Given the description of an element on the screen output the (x, y) to click on. 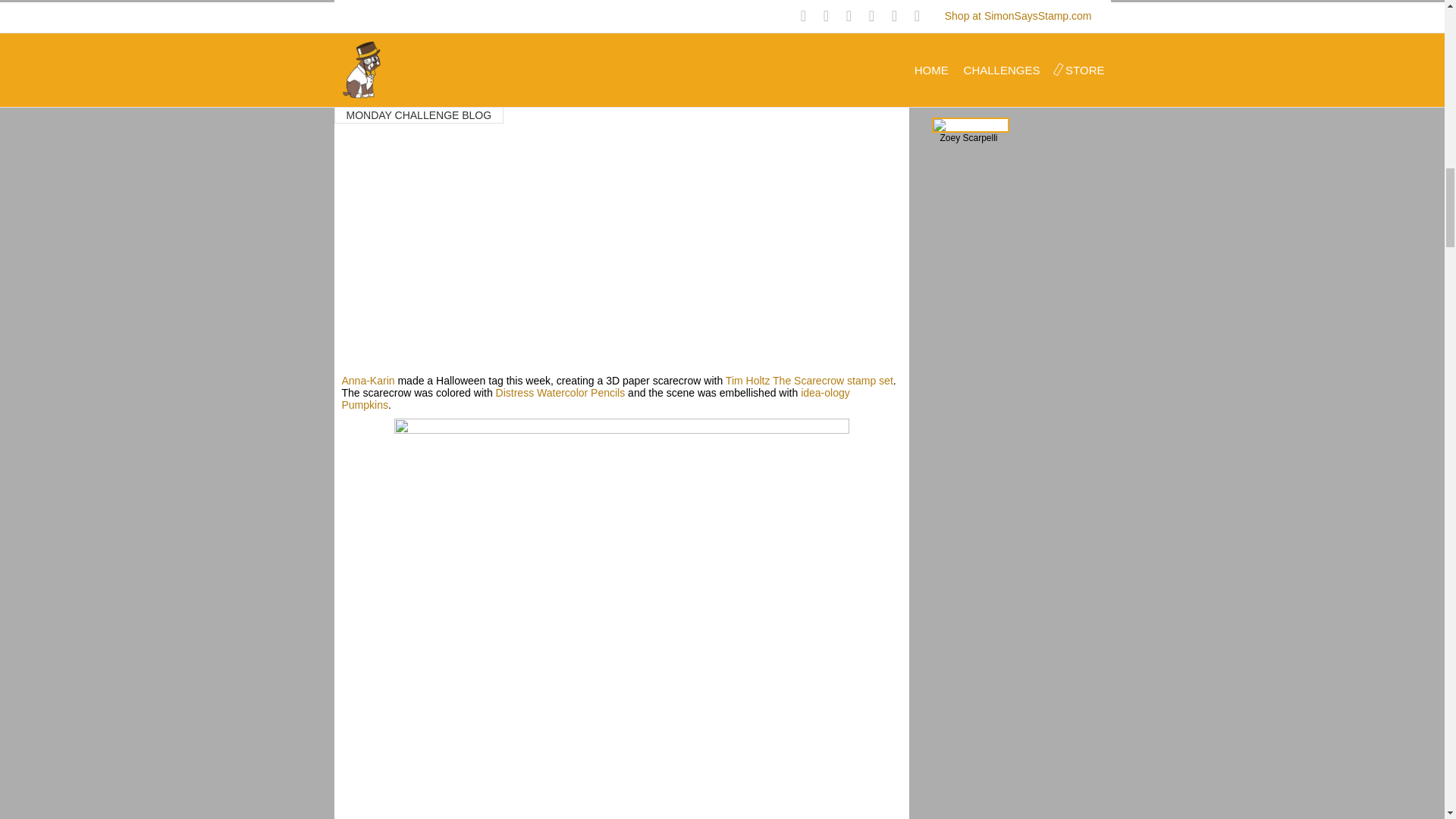
Anna-Karin (367, 380)
